Given the description of an element on the screen output the (x, y) to click on. 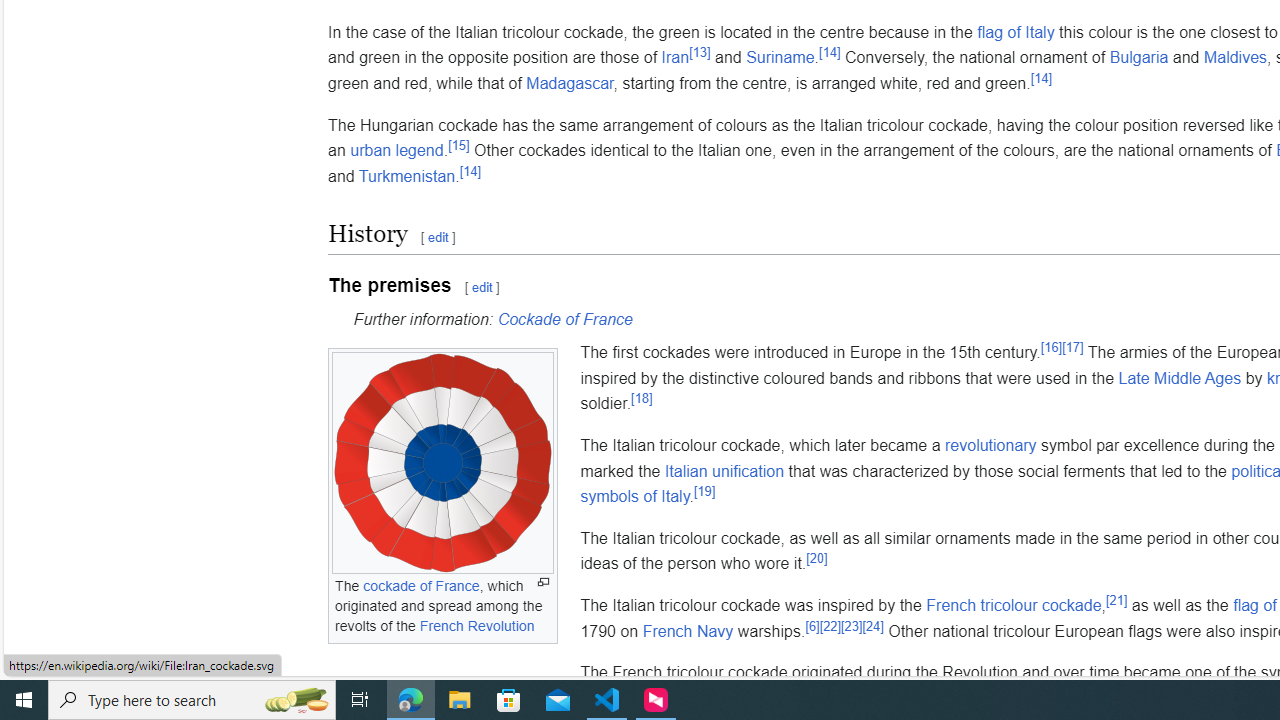
Class: mw-file-element (442, 463)
[15] (458, 144)
